Given the description of an element on the screen output the (x, y) to click on. 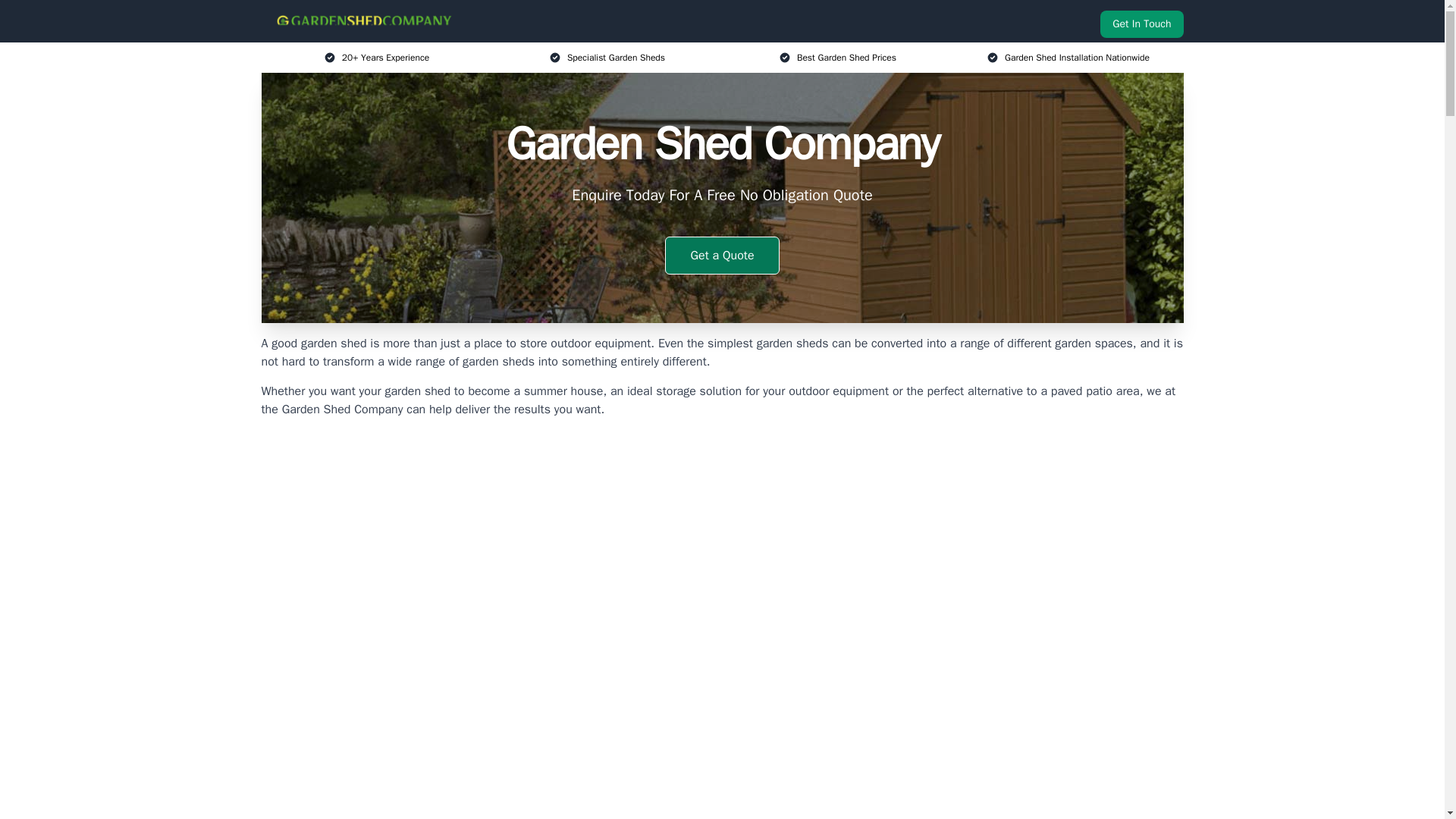
Get In Touch (1141, 23)
Get a Quote (721, 255)
